Given the description of an element on the screen output the (x, y) to click on. 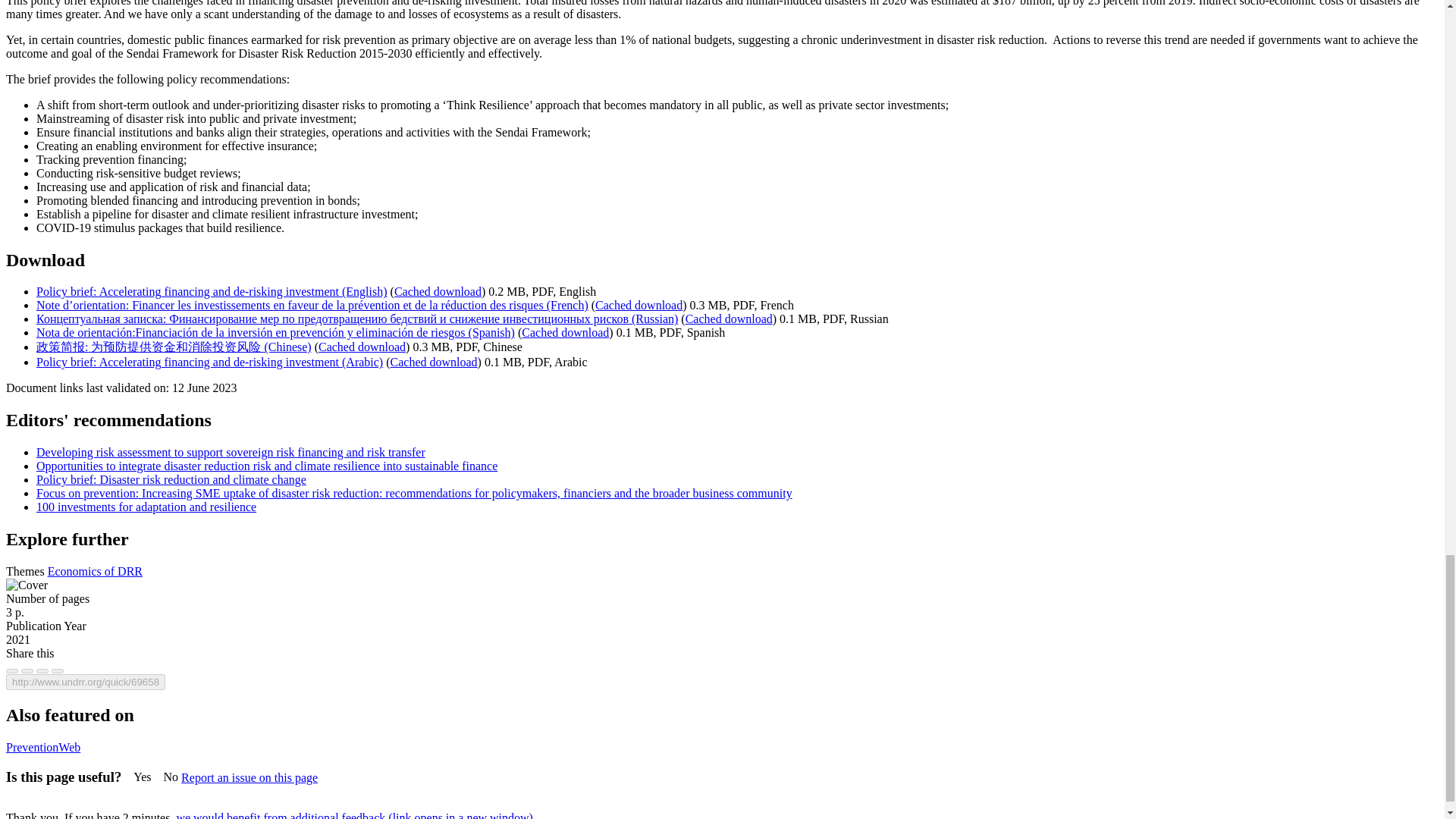
Copy to Clipboard (85, 682)
Share on Facebook (11, 671)
Share on LinkedIn (42, 671)
Share on Twitter (27, 671)
Share via Email (57, 671)
